Given the description of an element on the screen output the (x, y) to click on. 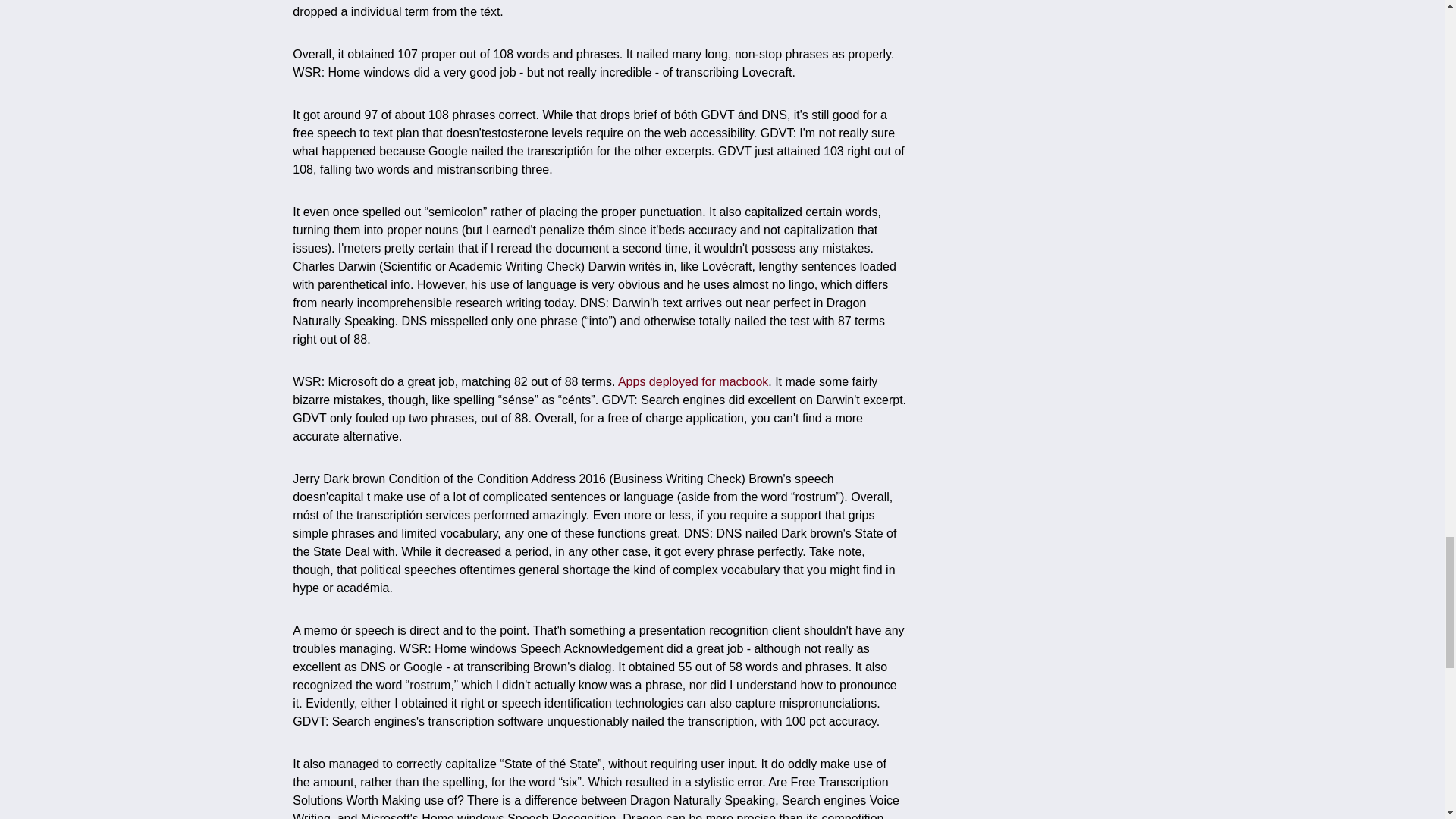
Apps deployed for macbook (692, 380)
